Given the description of an element on the screen output the (x, y) to click on. 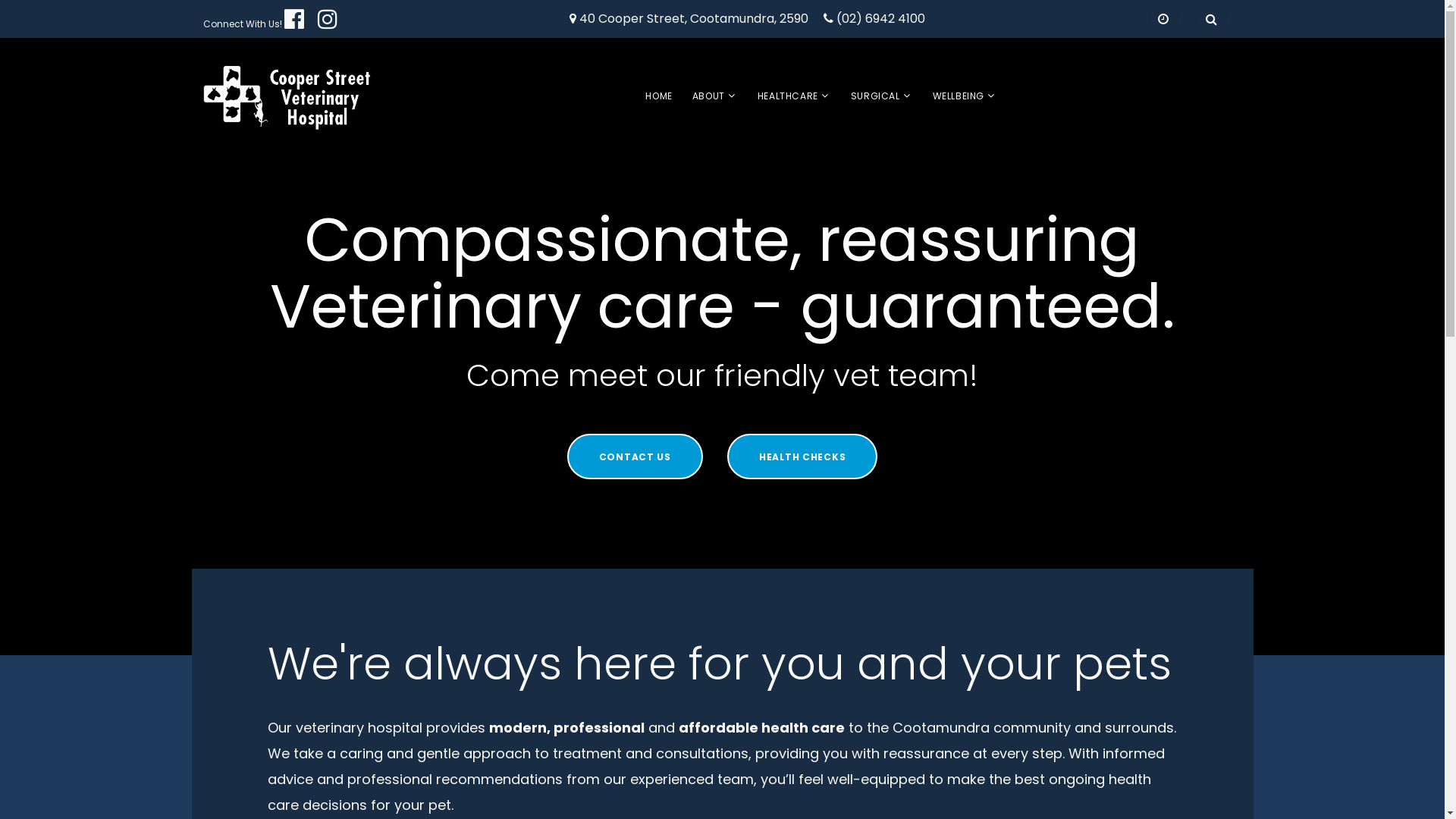
SURGICAL Element type: text (875, 95)
(02) 6942 4100 Element type: text (879, 19)
HEALTHCARE Element type: text (787, 95)
WELLBEING Element type: text (958, 95)
CONTACT US Element type: text (634, 456)
ABOUT Element type: text (708, 95)
HEALTH CHECKS Element type: text (802, 456)
HOME Element type: text (658, 95)
